Given the description of an element on the screen output the (x, y) to click on. 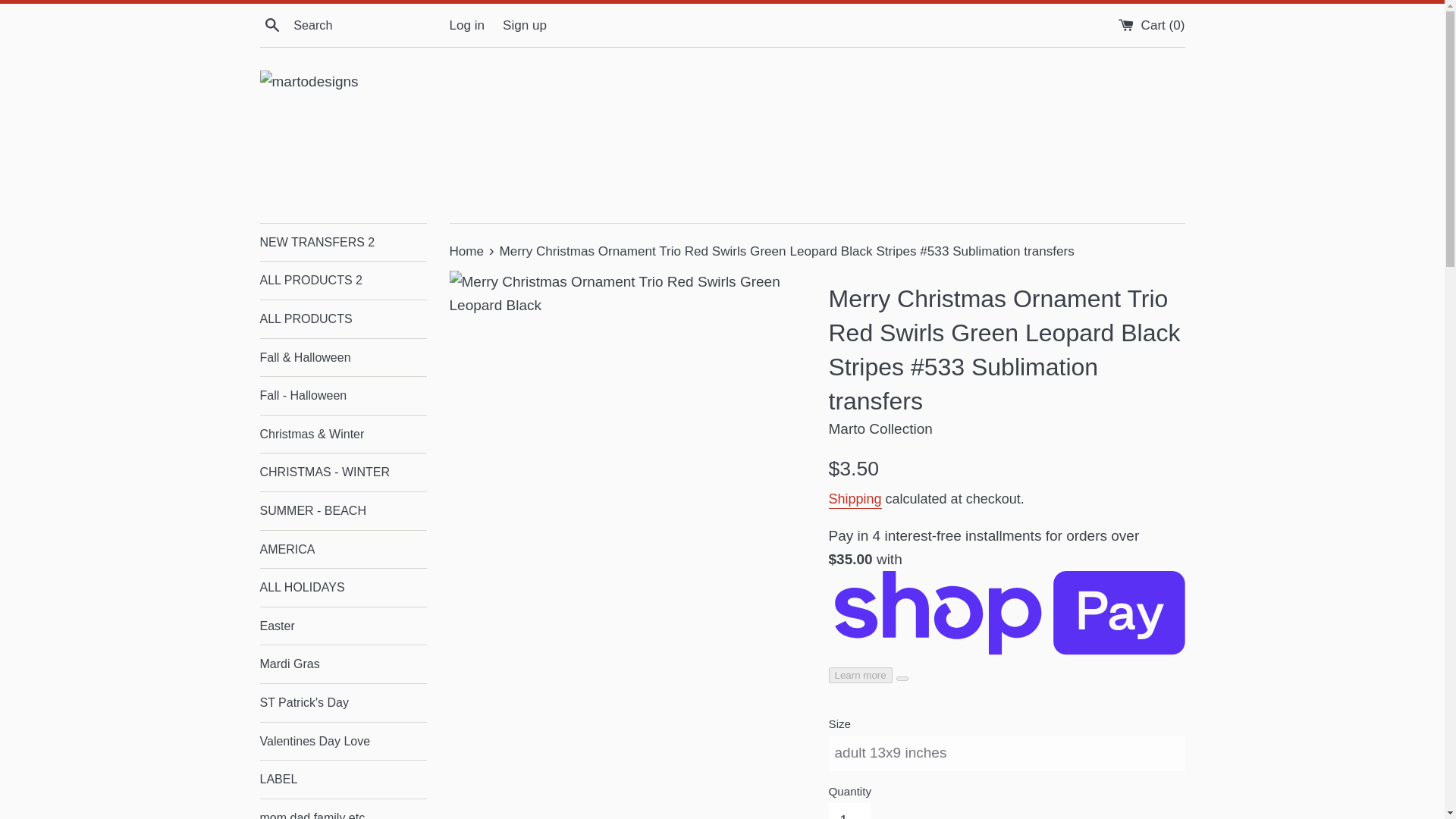
mom dad family etc (342, 809)
Back to the frontpage (467, 251)
Mardi Gras (342, 664)
1 (848, 811)
Fall - Halloween (342, 395)
SUMMER - BEACH (342, 510)
Easter (342, 626)
ALL HOLIDAYS (342, 587)
ALL PRODUCTS (342, 319)
CHRISTMAS - WINTER (342, 472)
ALL PRODUCTS 2 (342, 280)
Search (271, 24)
AMERICA (342, 549)
Log in (466, 25)
Sign up (524, 25)
